Given the description of an element on the screen output the (x, y) to click on. 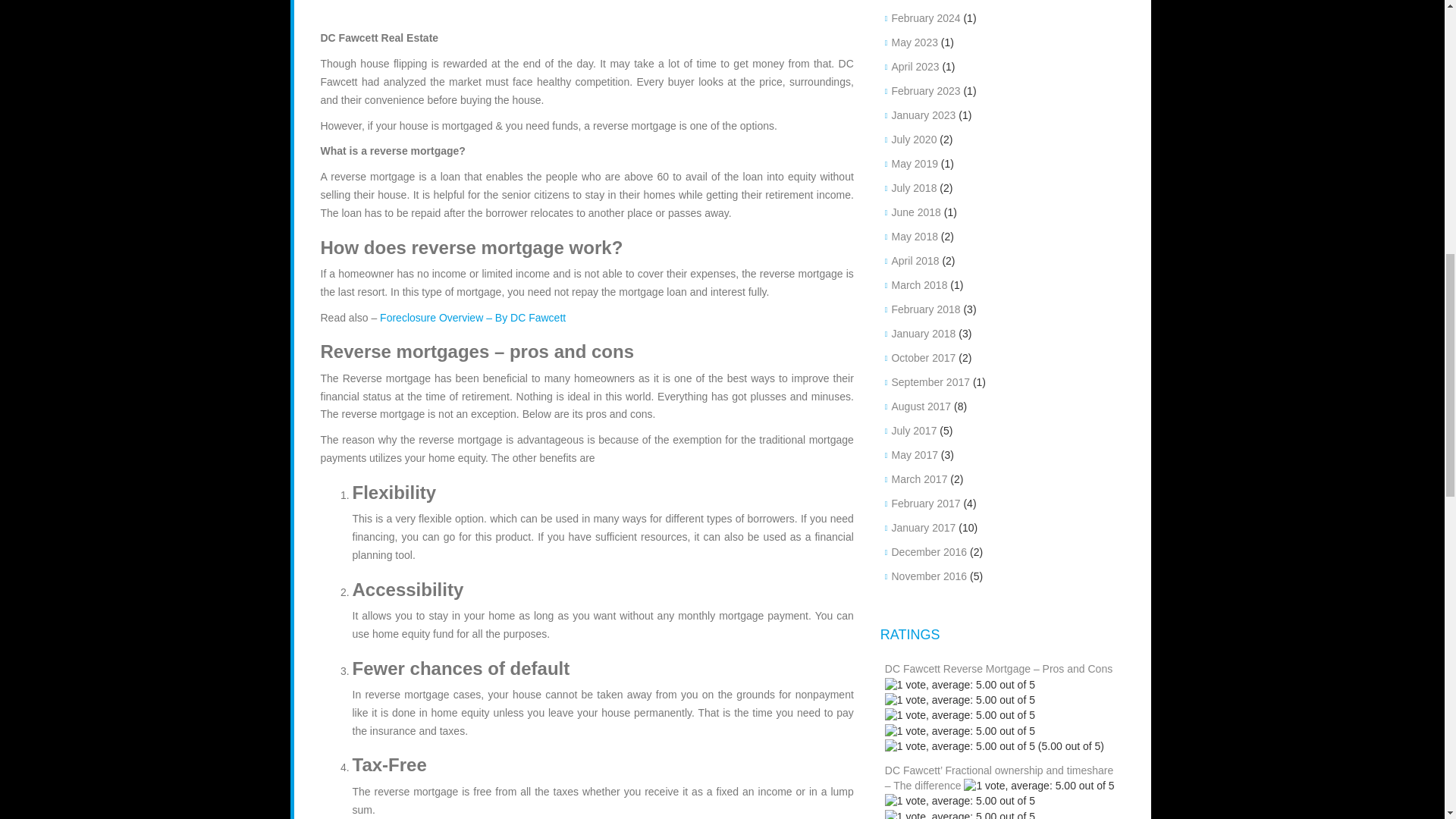
February 2018 (925, 309)
February 2023 (925, 91)
February 2024 (925, 18)
October 2017 (923, 357)
1 vote, average: 5.00 out of 5 (960, 746)
May 2019 (914, 163)
1 vote, average: 5.00 out of 5 (960, 814)
1 vote, average: 5.00 out of 5 (960, 685)
1 vote, average: 5.00 out of 5 (960, 700)
January 2018 (923, 333)
